Given the description of an element on the screen output the (x, y) to click on. 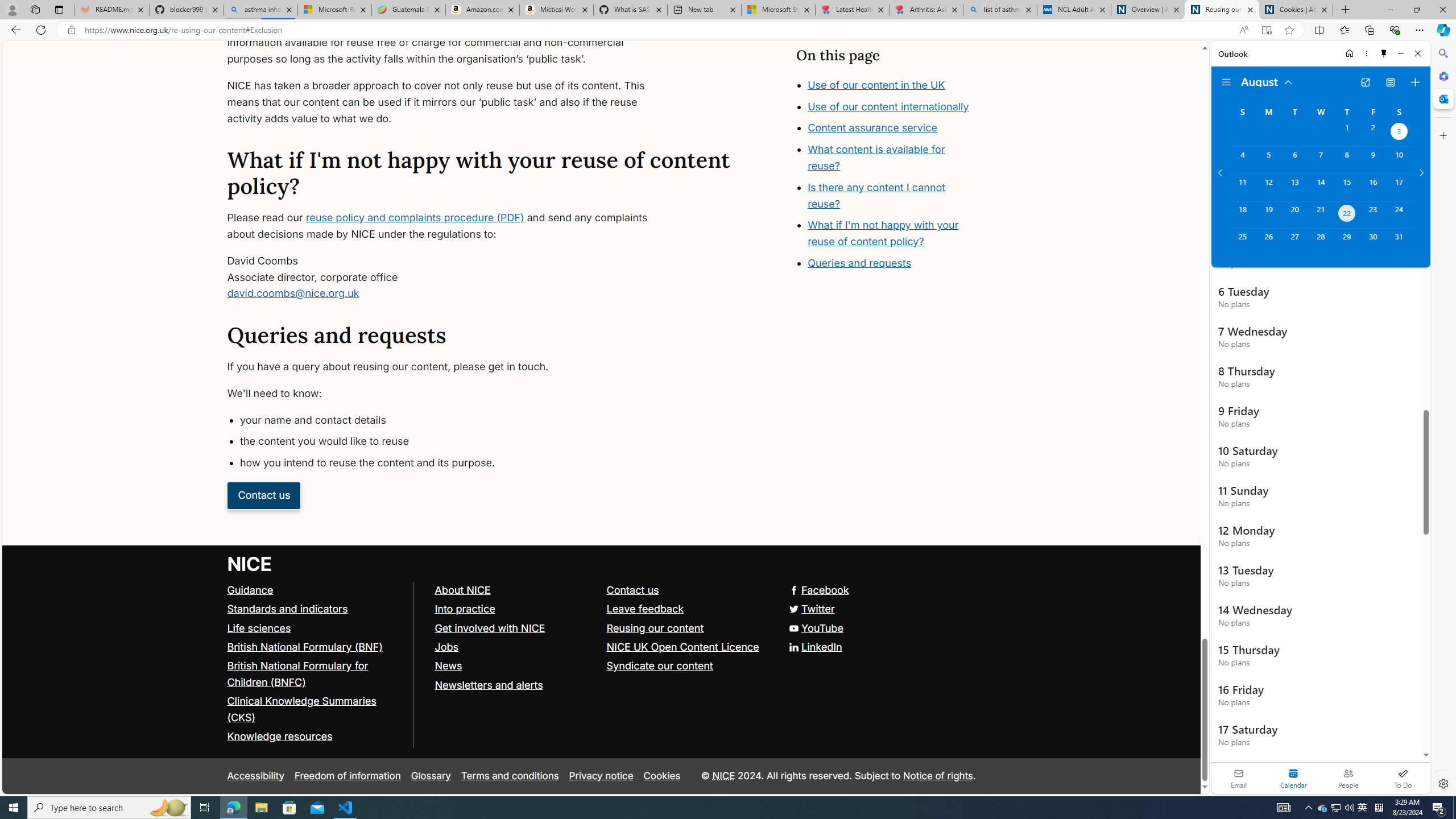
Saturday, August 17, 2024.  (1399, 186)
What if I'm not happy with your reuse of content policy? (883, 233)
Thursday, August 22, 2024. Today.  (1346, 214)
Glossary (430, 775)
Jobs (445, 646)
Sunday, August 18, 2024.  (1242, 214)
Facebook (817, 589)
Privacy notice (601, 775)
Get involved with NICE (489, 627)
Friday, August 9, 2024.  (1372, 159)
Tuesday, August 6, 2024.  (1294, 159)
